Given the description of an element on the screen output the (x, y) to click on. 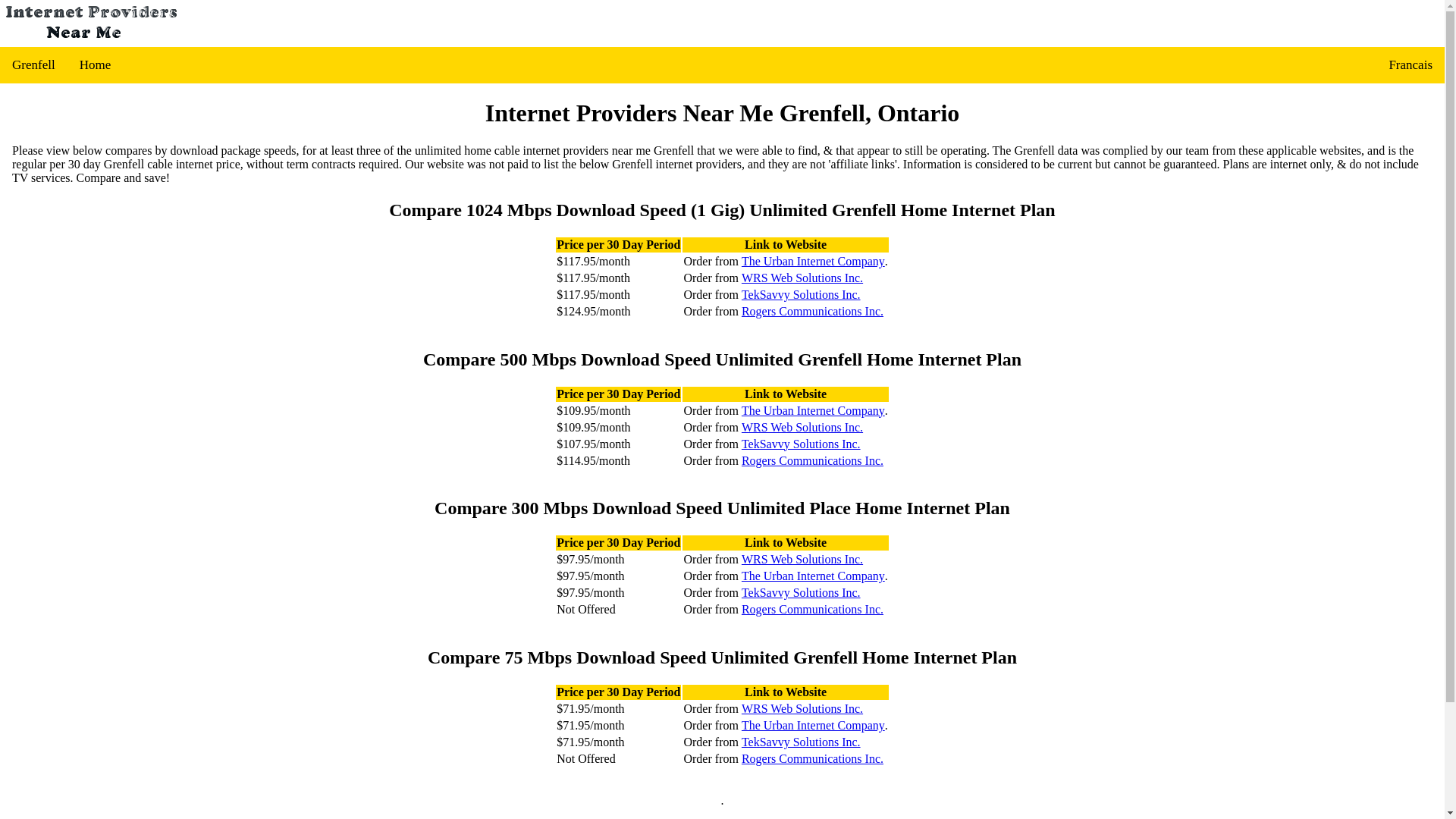
The Urban Internet Company (813, 576)
Home (94, 64)
The Urban Internet Company (813, 725)
Grenfell (33, 64)
WRS Web Solutions Inc. (802, 427)
WRS Web Solutions Inc. (802, 278)
Rogers Communications Inc. (812, 758)
Rogers Communications Inc. (812, 311)
Rogers Communications Inc. (812, 459)
The Urban Internet Company (813, 261)
